Given the description of an element on the screen output the (x, y) to click on. 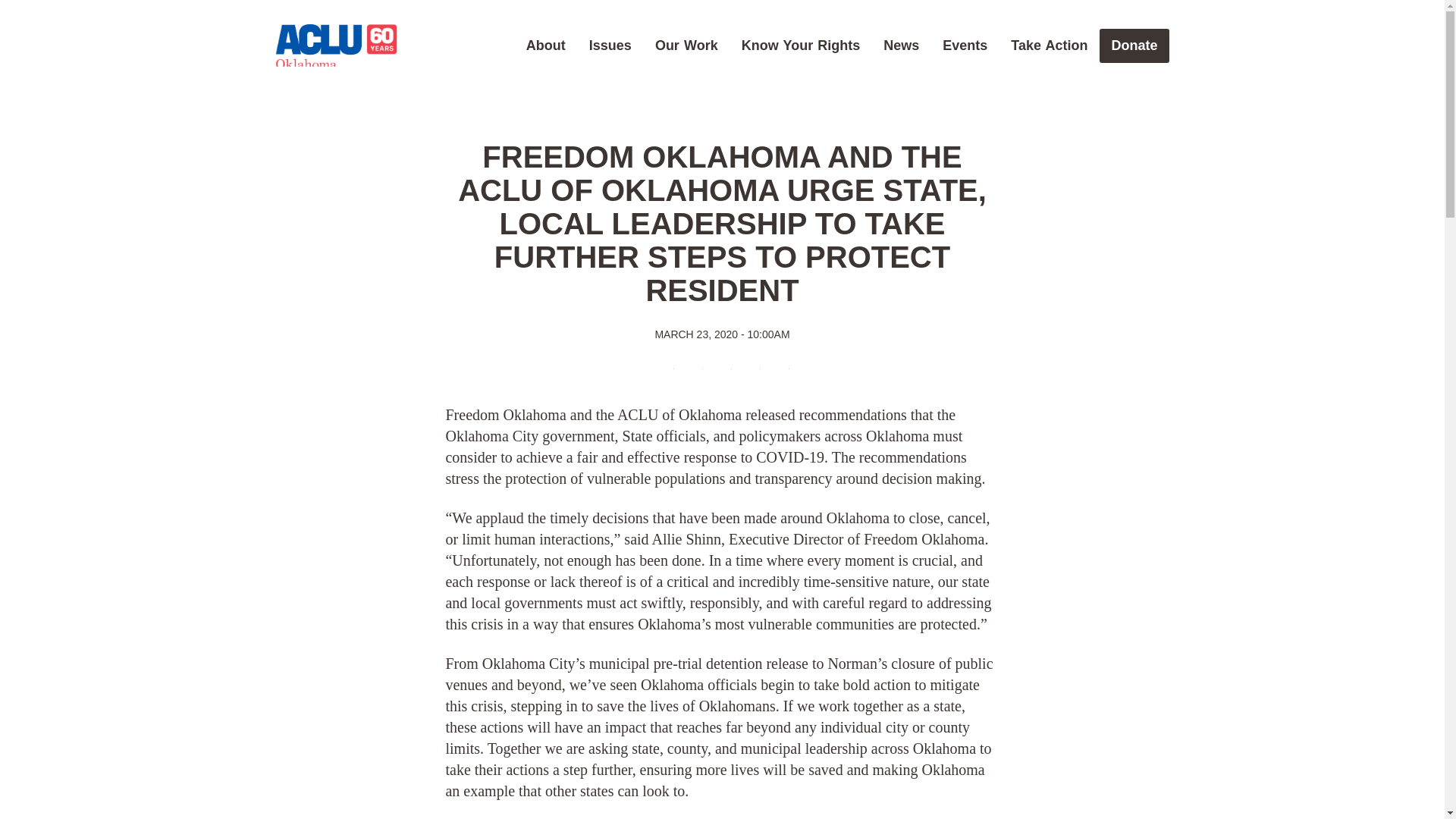
Events (964, 45)
Email (750, 372)
Email this page (750, 372)
Know Your Rights (801, 45)
Facebook (663, 372)
Take Action (1048, 45)
Submit this to Twitter (692, 372)
ACLU of Oklahoma - logo (335, 46)
Submit this to Facebook (663, 372)
